Given the description of an element on the screen output the (x, y) to click on. 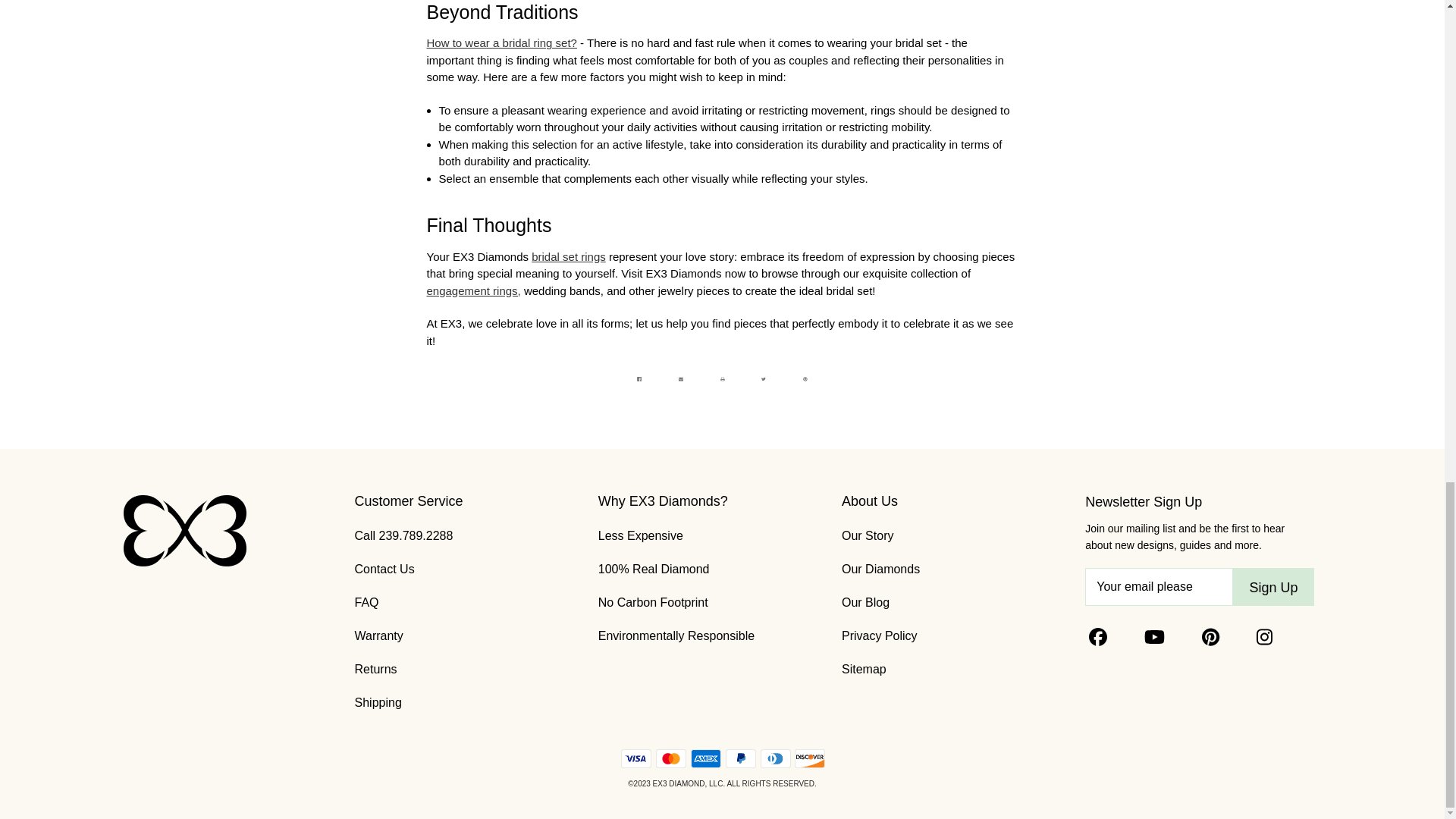
Pinterest (804, 378)
Email (681, 378)
Facebook (639, 378)
Sign Up (1273, 587)
Twitter (763, 378)
Print (722, 378)
